Given the description of an element on the screen output the (x, y) to click on. 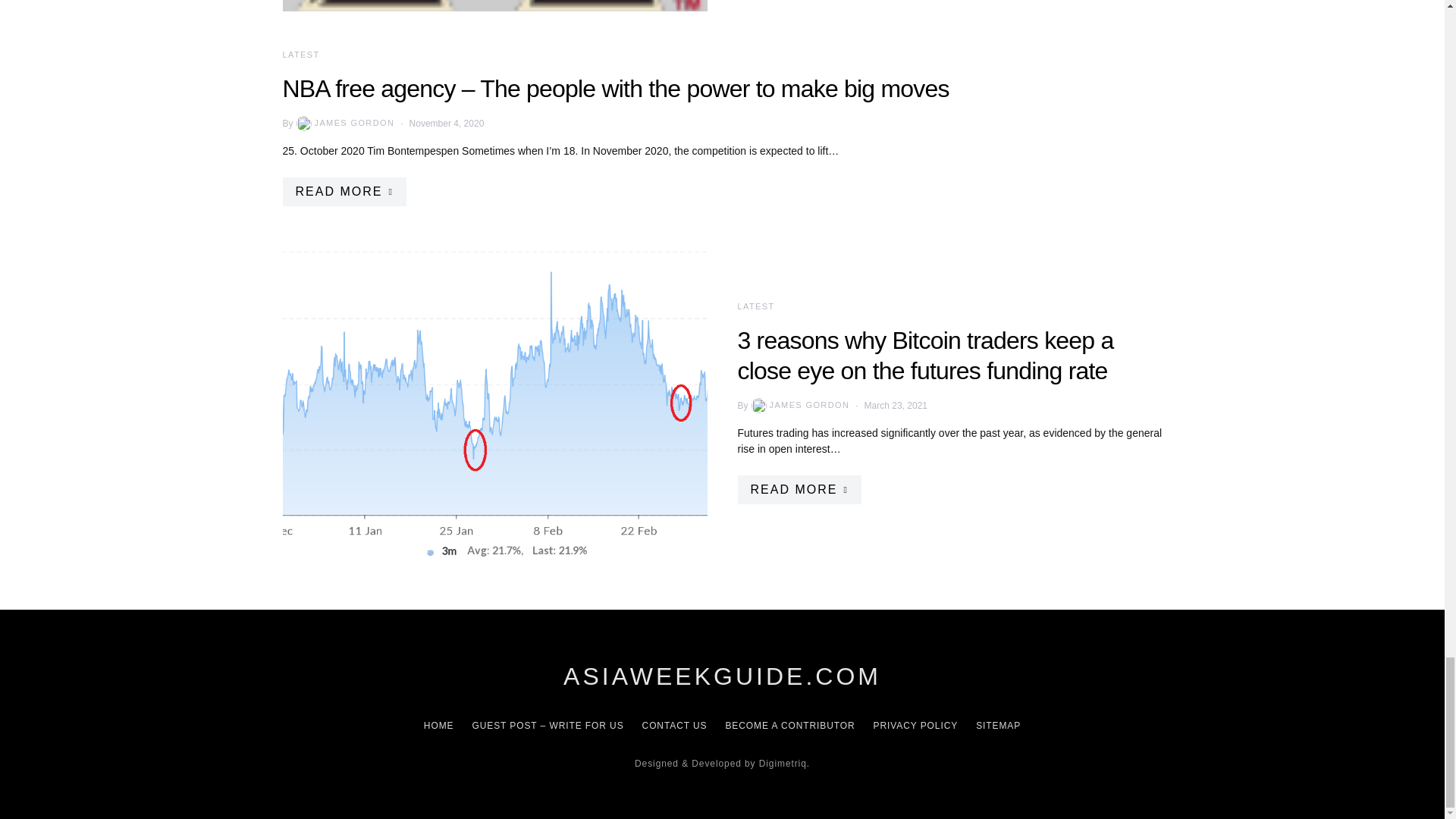
View all posts by James Gordon (344, 123)
View all posts by James Gordon (799, 405)
